Given the description of an element on the screen output the (x, y) to click on. 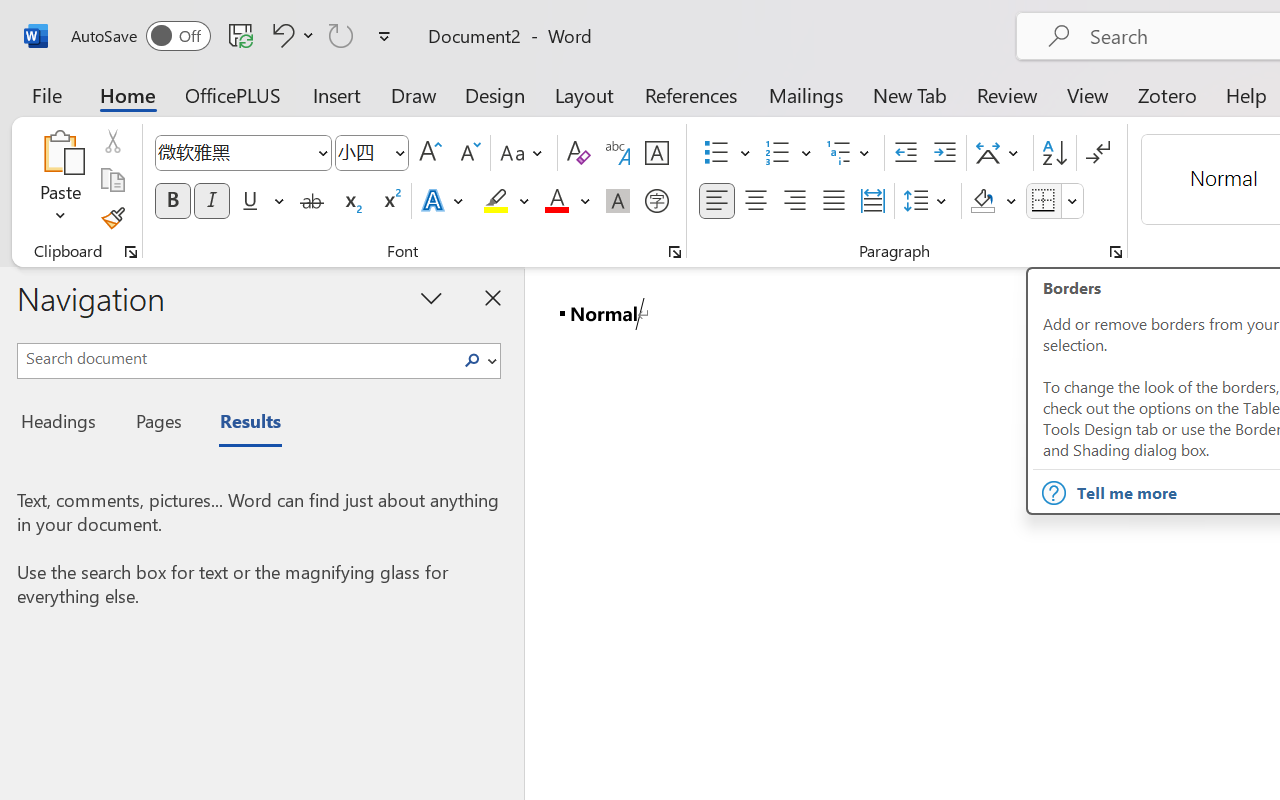
Paste (60, 179)
Superscript (390, 201)
Center (756, 201)
Headings (64, 424)
Cut (112, 141)
OfficePLUS (233, 94)
Sort... (1054, 153)
Underline (261, 201)
Enclose Characters... (656, 201)
Font Size (362, 152)
Class: NetUIImage (471, 360)
Align Right (794, 201)
Open (399, 152)
Justify (834, 201)
